Given the description of an element on the screen output the (x, y) to click on. 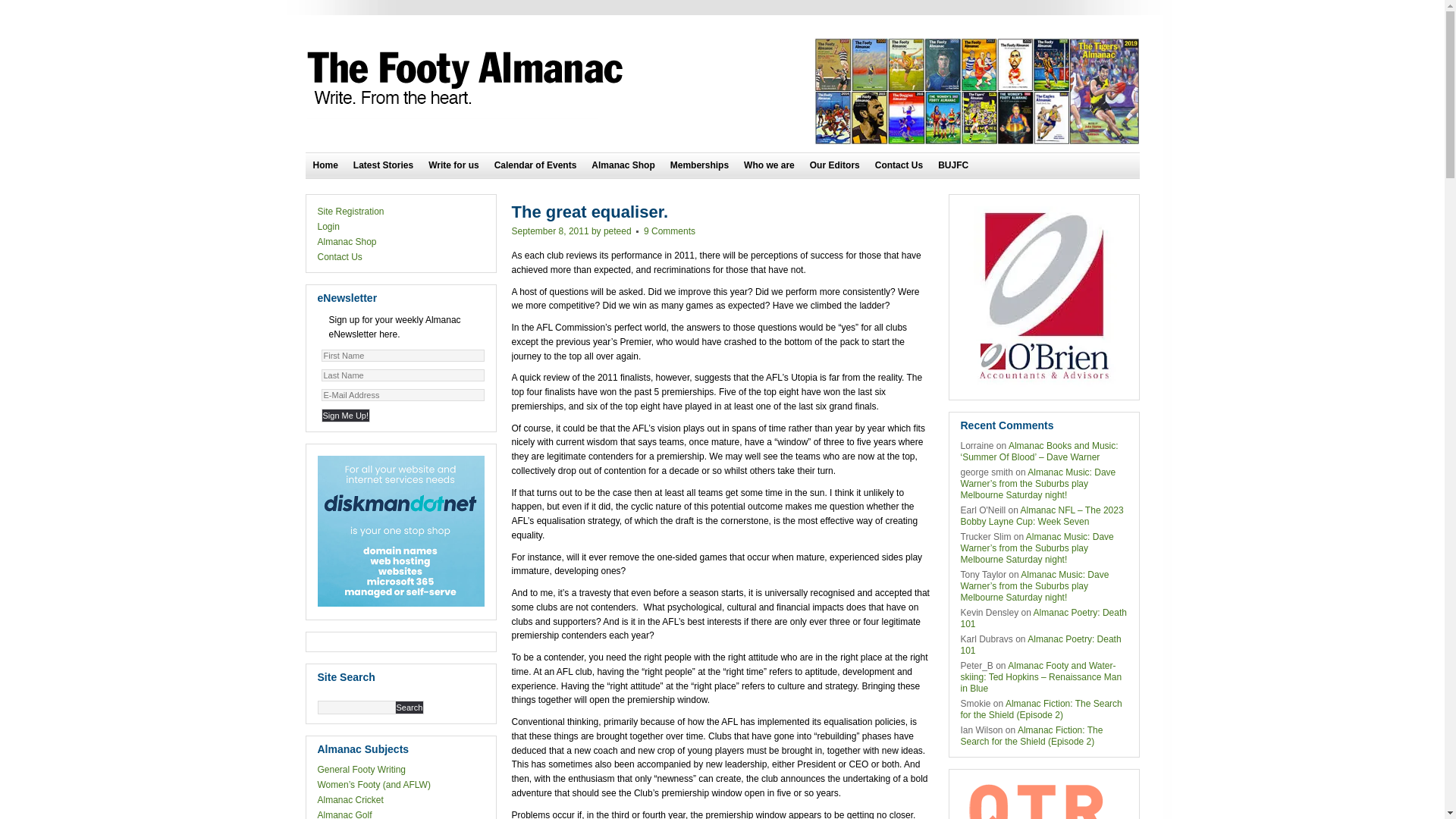
9 Comments Element type: text (669, 230)
Almanac Poetry: Death 101 Element type: text (1043, 618)
Almanac Shop Element type: text (346, 241)
Who we are Element type: text (769, 165)
Calendar of Events Element type: text (535, 165)
Search Element type: text (408, 707)
Login Element type: text (327, 226)
Almanac Cricket Element type: text (349, 799)
Contact Us Element type: text (338, 256)
Almanac Poetry: Death 101 Element type: text (1040, 644)
Almanac Fiction: The Search for the Shield (Episode 2) Element type: text (1040, 709)
Almanac Shop Element type: text (622, 165)
Home Element type: text (324, 165)
Our Editors Element type: text (834, 165)
Site Registration Element type: text (349, 211)
Sign Me Up! Element type: text (345, 415)
Latest Stories Element type: text (382, 165)
Memberships Element type: text (699, 165)
THE FOOTY ALMANAC Element type: text (467, 78)
General Footy Writing Element type: text (360, 769)
peteed Element type: text (617, 230)
Contact Us Element type: text (898, 165)
Almanac Fiction: The Search for the Shield (Episode 2) Element type: text (1031, 735)
Write for us Element type: text (453, 165)
BUJFC Element type: text (952, 165)
